Given the description of an element on the screen output the (x, y) to click on. 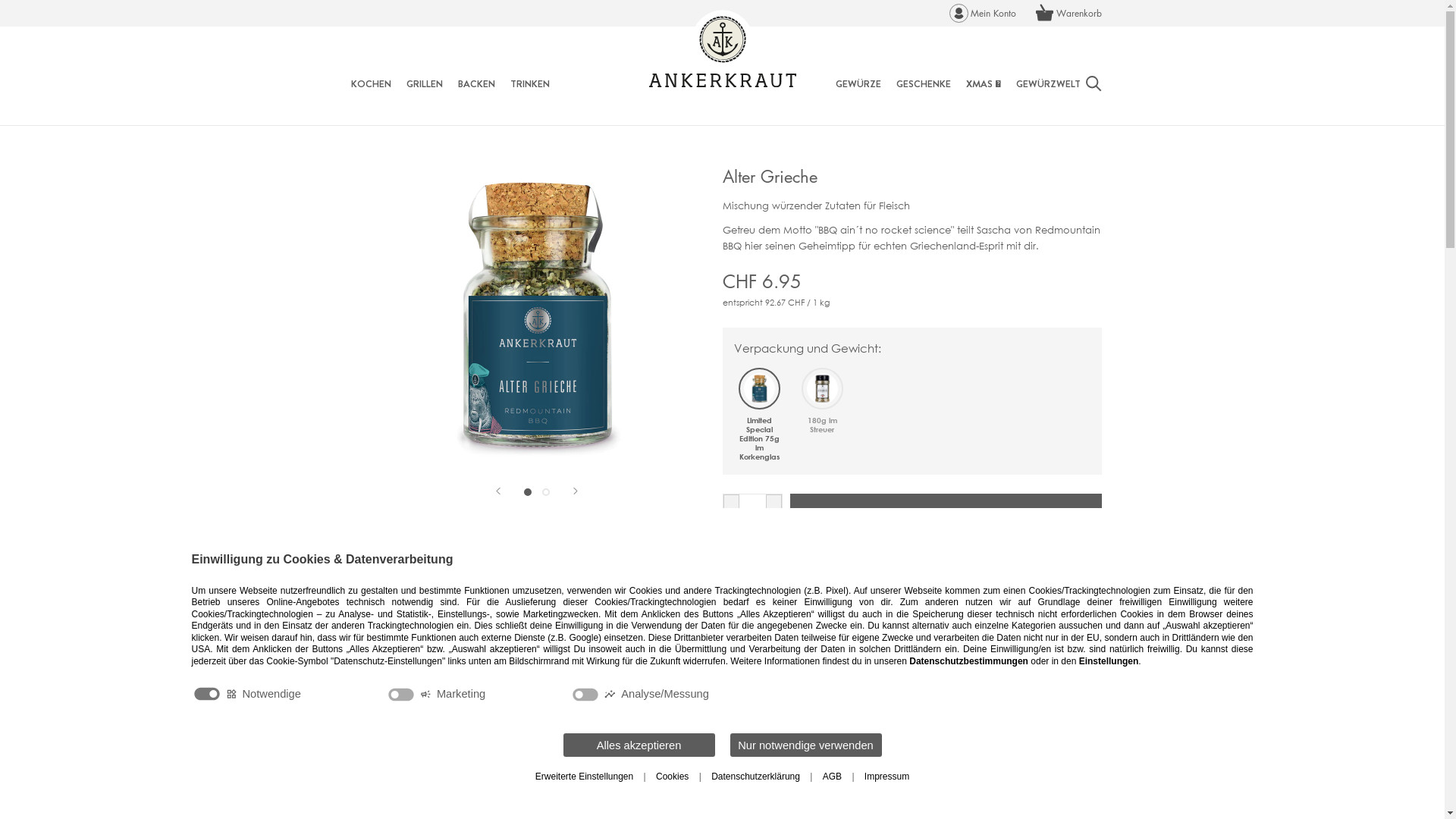
Warenkorb
0 Element type: text (1067, 12)
Alles akzeptieren Element type: text (638, 744)
Nur notwendige verwenden Element type: text (805, 744)
Impressum Element type: text (886, 776)
Erweiterte Einstellungen Element type: text (583, 776)
TRINKEN Element type: text (529, 83)
AGB Element type: text (832, 776)
Versandkosten Element type: text (800, 553)
Cookies Element type: text (672, 776)
GRILLEN Element type: text (424, 83)
Mein Konto Element type: text (982, 12)
KOCHEN Element type: text (370, 83)
Datenschutzbestimmungen Element type: text (968, 660)
IN DEN WARENKORB Element type: text (945, 511)
GESCHENKE Element type: text (923, 83)
BACKEN Element type: text (476, 83)
